Given the description of an element on the screen output the (x, y) to click on. 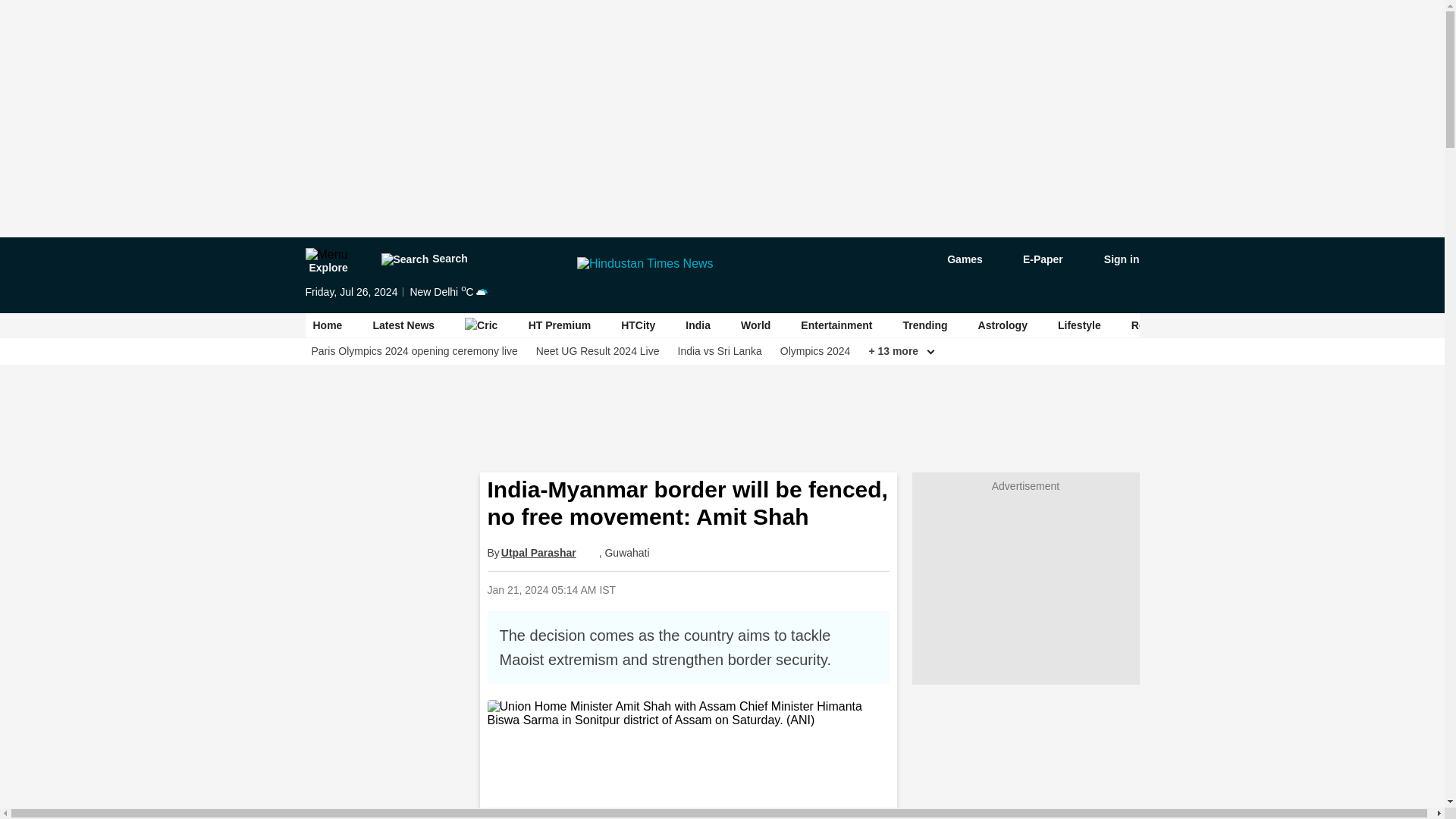
Paris Olympics 2024 opening ceremony live (413, 350)
epaper (1034, 258)
Cities (1314, 325)
game (954, 258)
Education (1243, 325)
Neet UG Result 2024 Live (597, 350)
Trending (924, 325)
World (755, 325)
HT Premium (559, 325)
India vs Sri Lanka (719, 350)
Lifestyle (1079, 325)
Share on Facebook (710, 589)
Astrology (1002, 325)
Share on Twitter (749, 589)
India (697, 325)
